Given the description of an element on the screen output the (x, y) to click on. 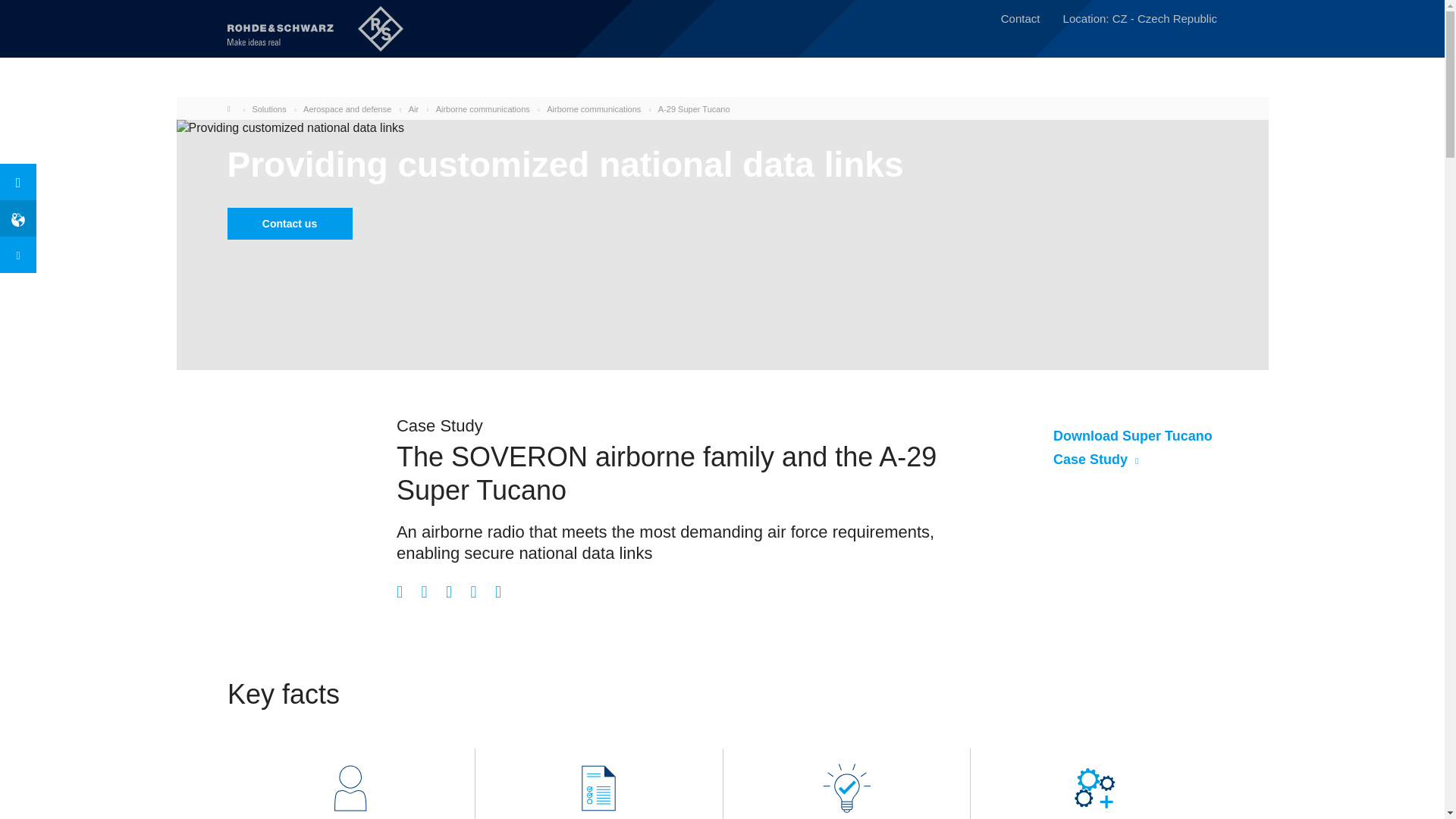
Airborne communications (482, 108)
Customer (350, 788)
A-29 Super Tucano (694, 108)
Download Super Tucano Case Study (1134, 448)
Solutions (268, 108)
Airborne communications (593, 108)
Home (232, 108)
Contact (1021, 20)
Solution (846, 788)
